Given the description of an element on the screen output the (x, y) to click on. 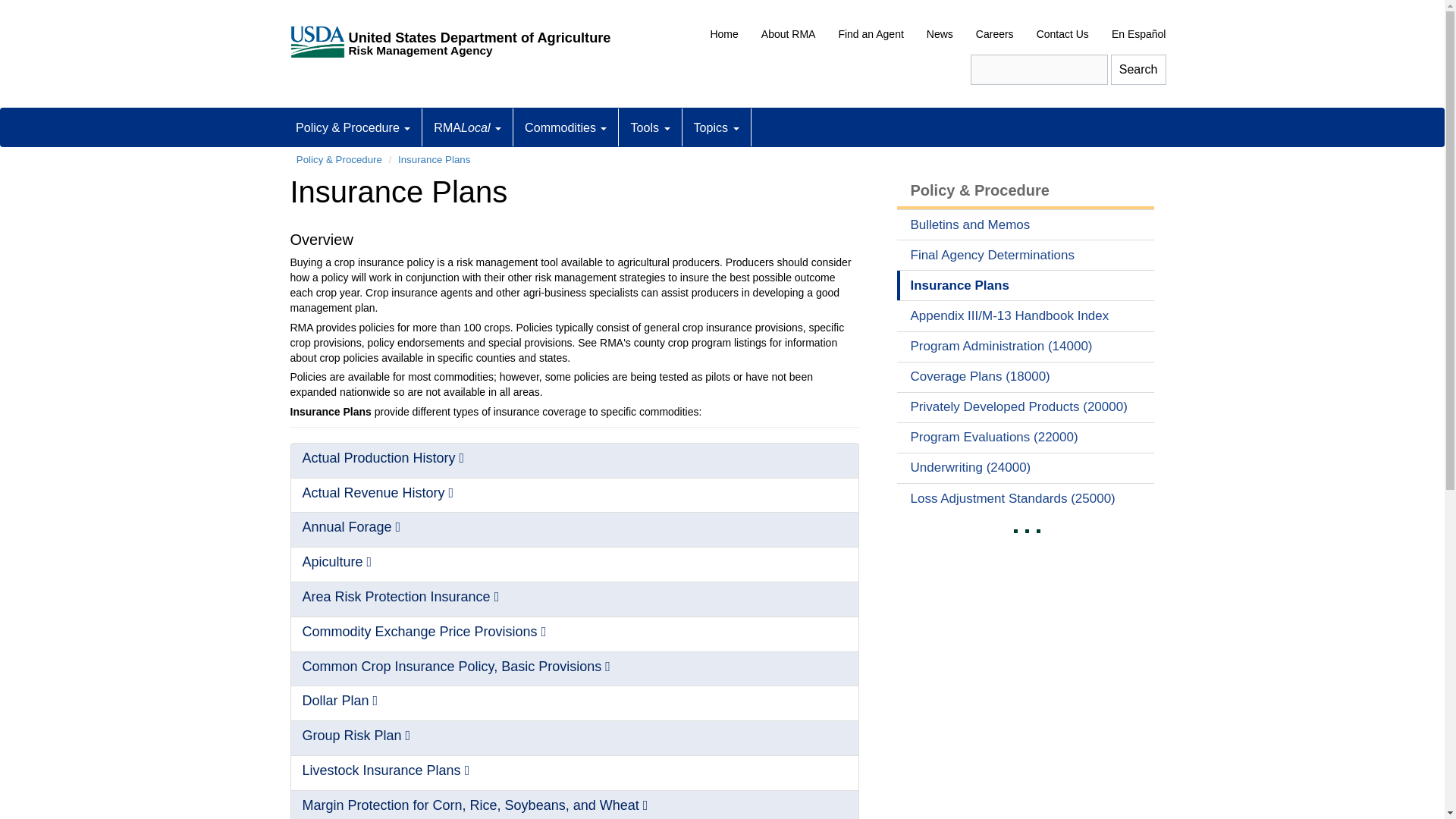
Careers Main Menu Link (994, 34)
Find an Agent (870, 34)
Home Main Menu Link (723, 34)
News Main Menu Link (939, 34)
Home (723, 34)
Contact Us Main Menu Link (1062, 34)
Find an Agent Main Menu Link (870, 34)
About RMA (788, 34)
Search (1138, 69)
Contact Us (1062, 34)
News (939, 34)
About RMA Main Menu Link (788, 34)
Careers (994, 34)
RMALocal (467, 127)
